Given the description of an element on the screen output the (x, y) to click on. 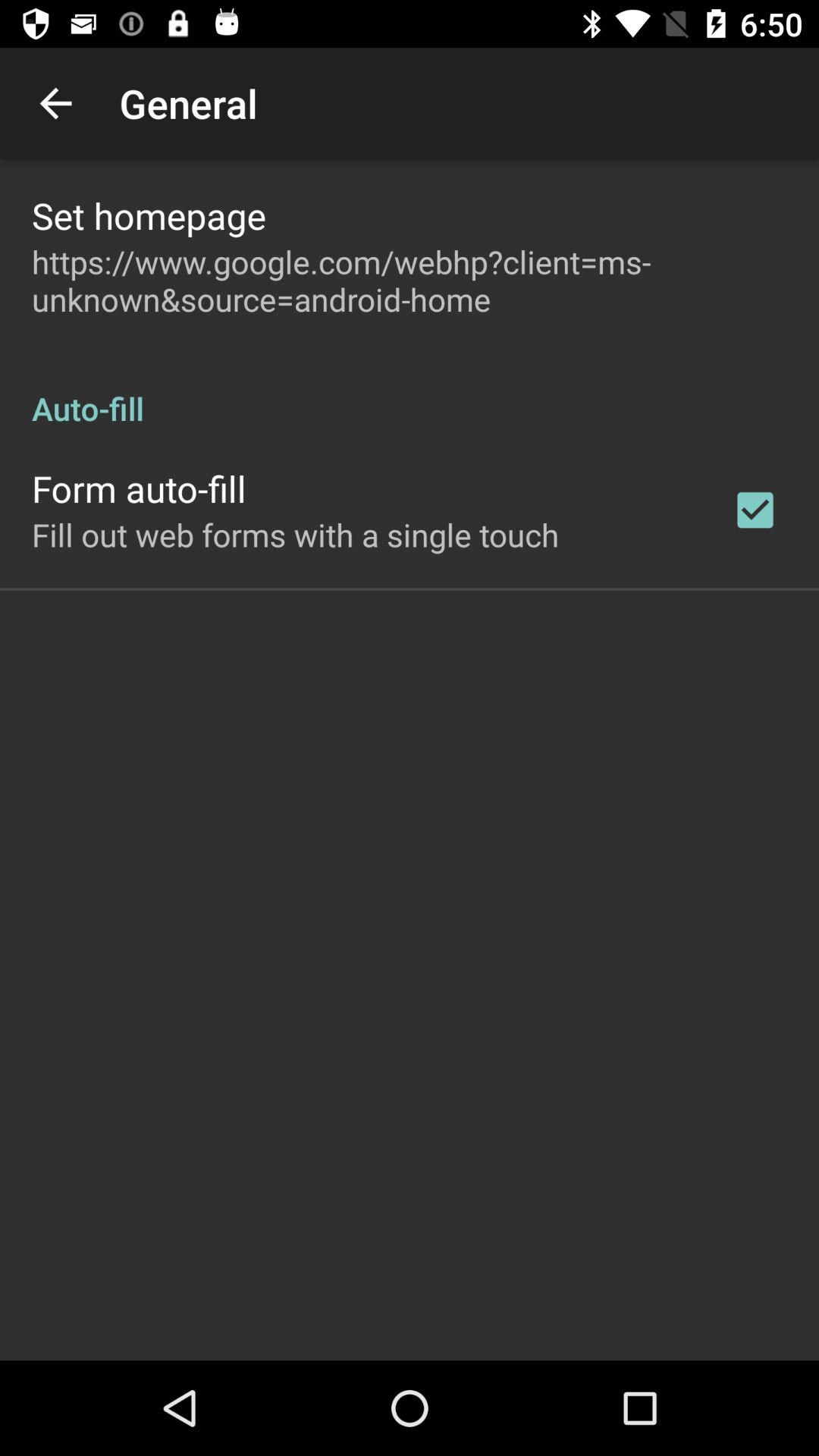
turn on item below the form auto-fill icon (295, 534)
